Given the description of an element on the screen output the (x, y) to click on. 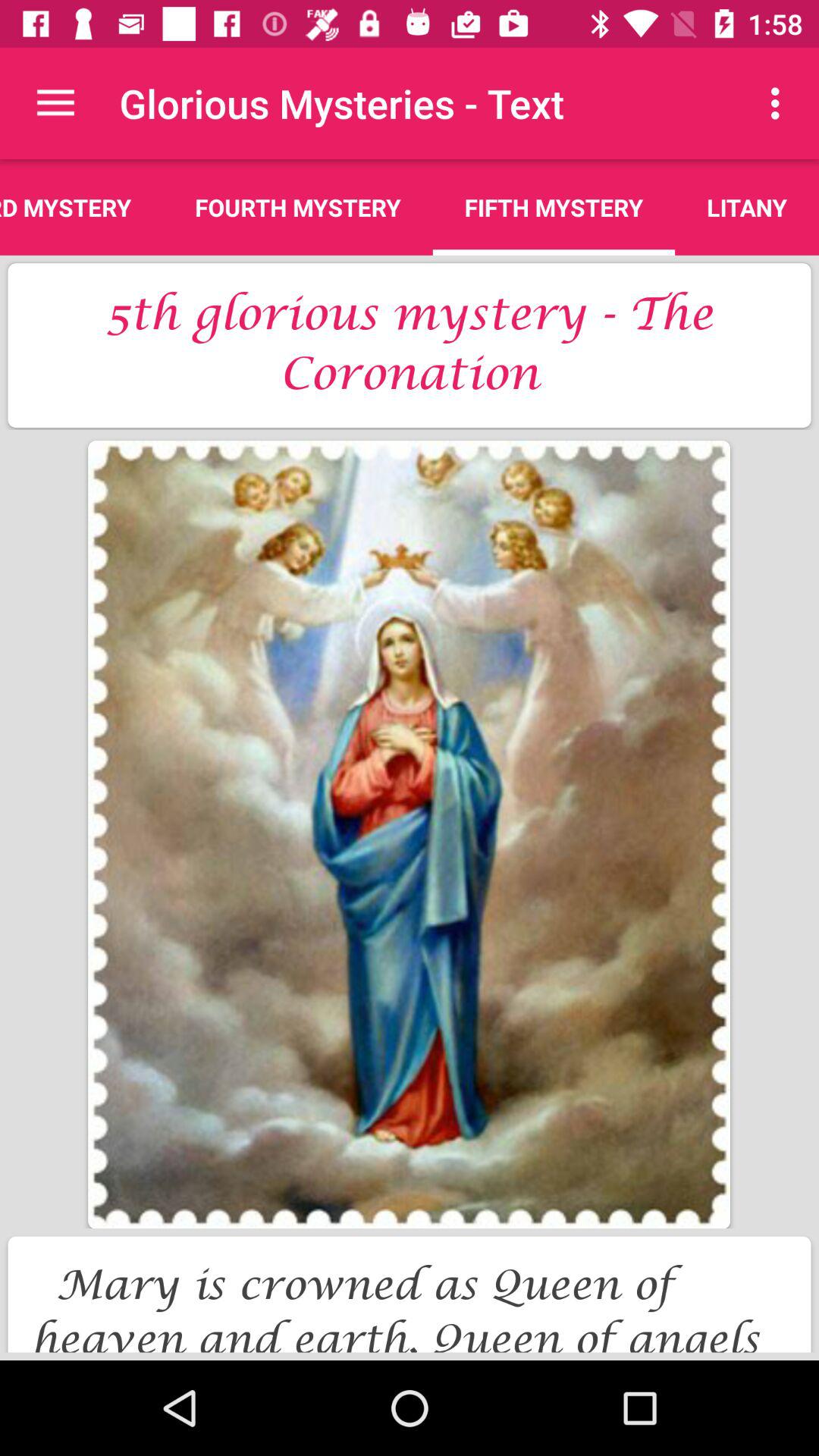
turn off app to the left of litany app (553, 207)
